Given the description of an element on the screen output the (x, y) to click on. 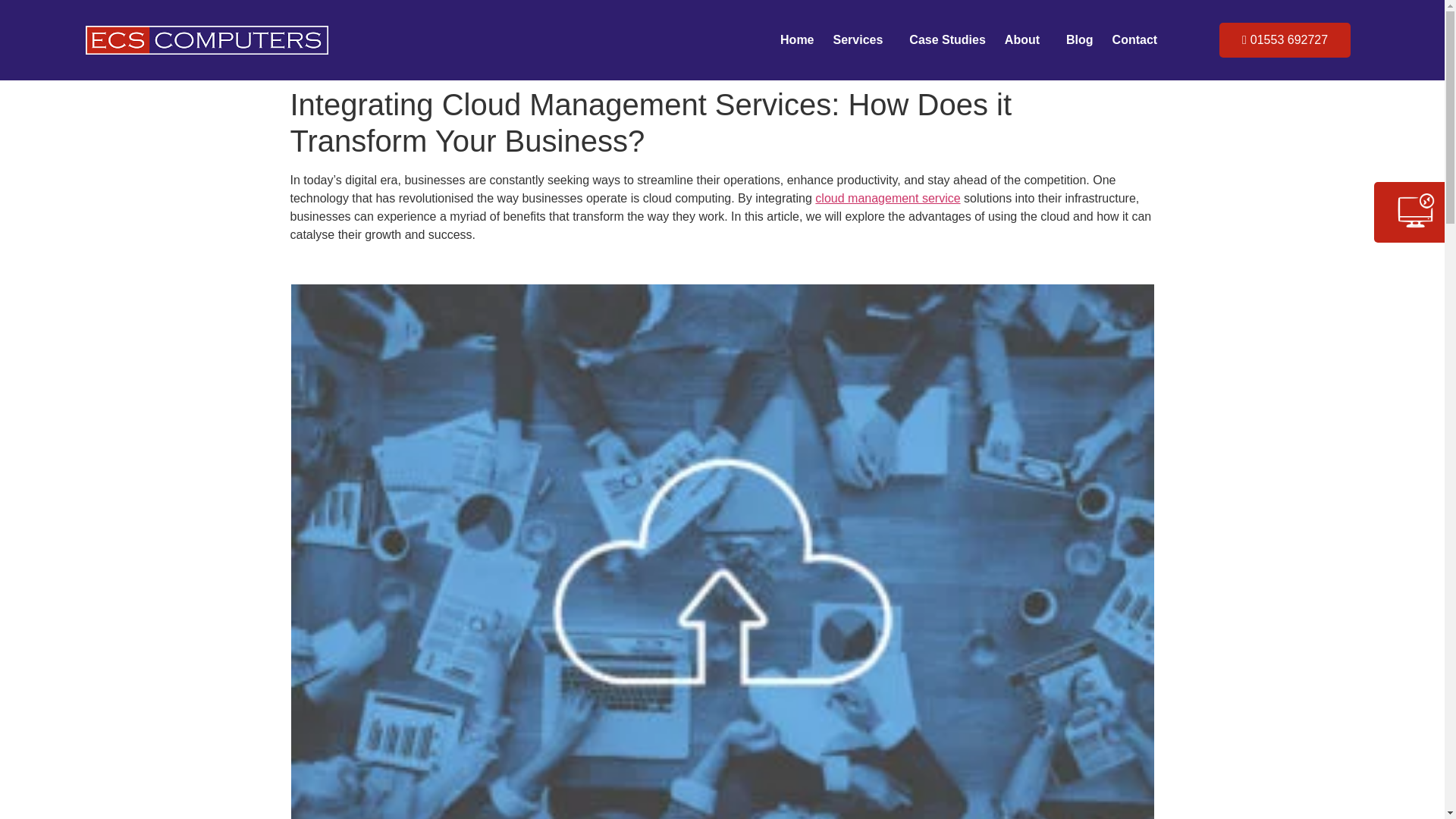
01553 692727 (1285, 39)
Case Studies (946, 39)
Services (860, 39)
Contact (1134, 39)
About (1025, 39)
